Given the description of an element on the screen output the (x, y) to click on. 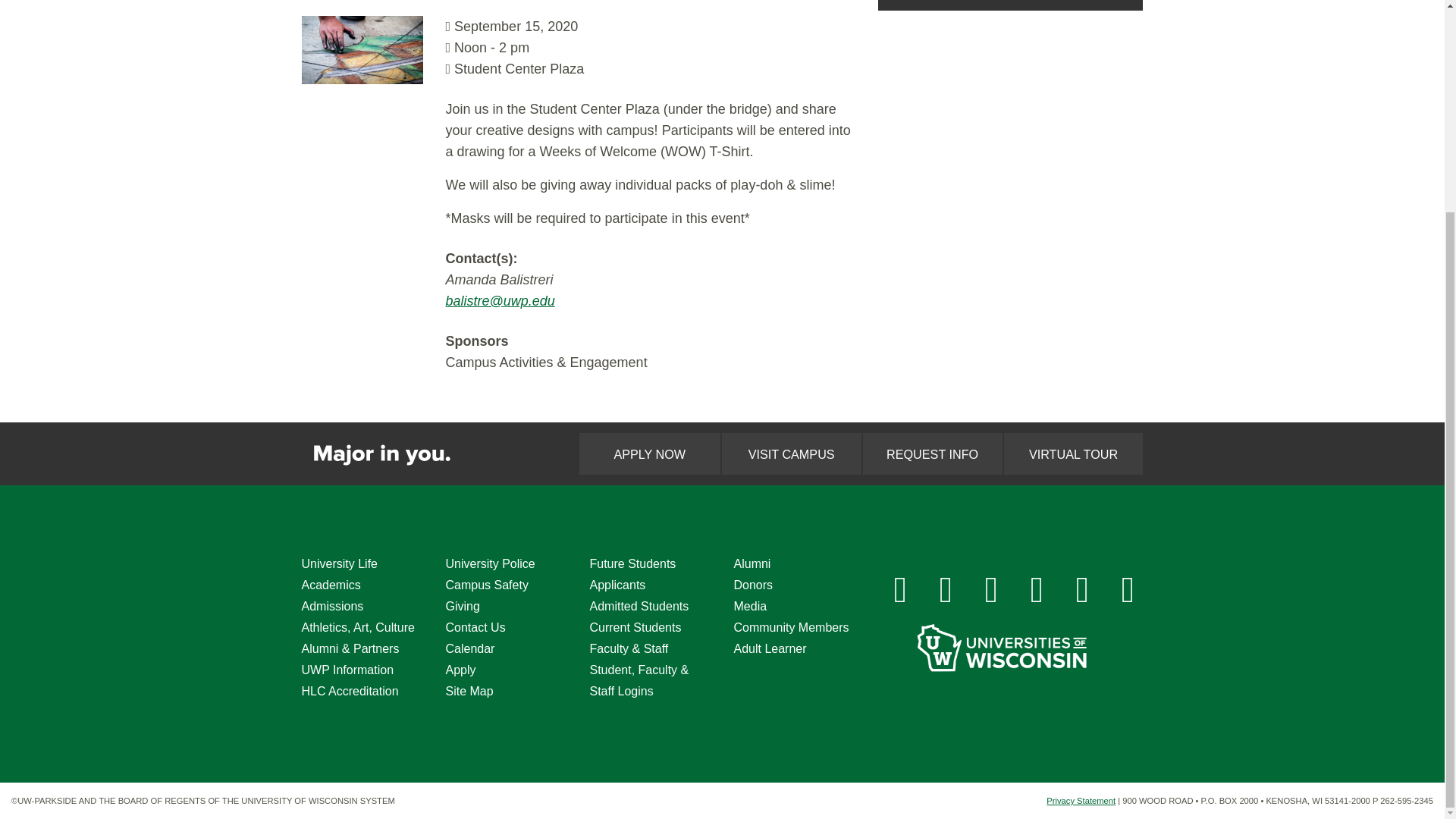
Email Admissions (1128, 589)
LinkedIn (1036, 589)
Facebook (900, 589)
X (991, 589)
TikTok (1082, 589)
Instagram (946, 589)
Download as .ics (1009, 5)
